Given the description of an element on the screen output the (x, y) to click on. 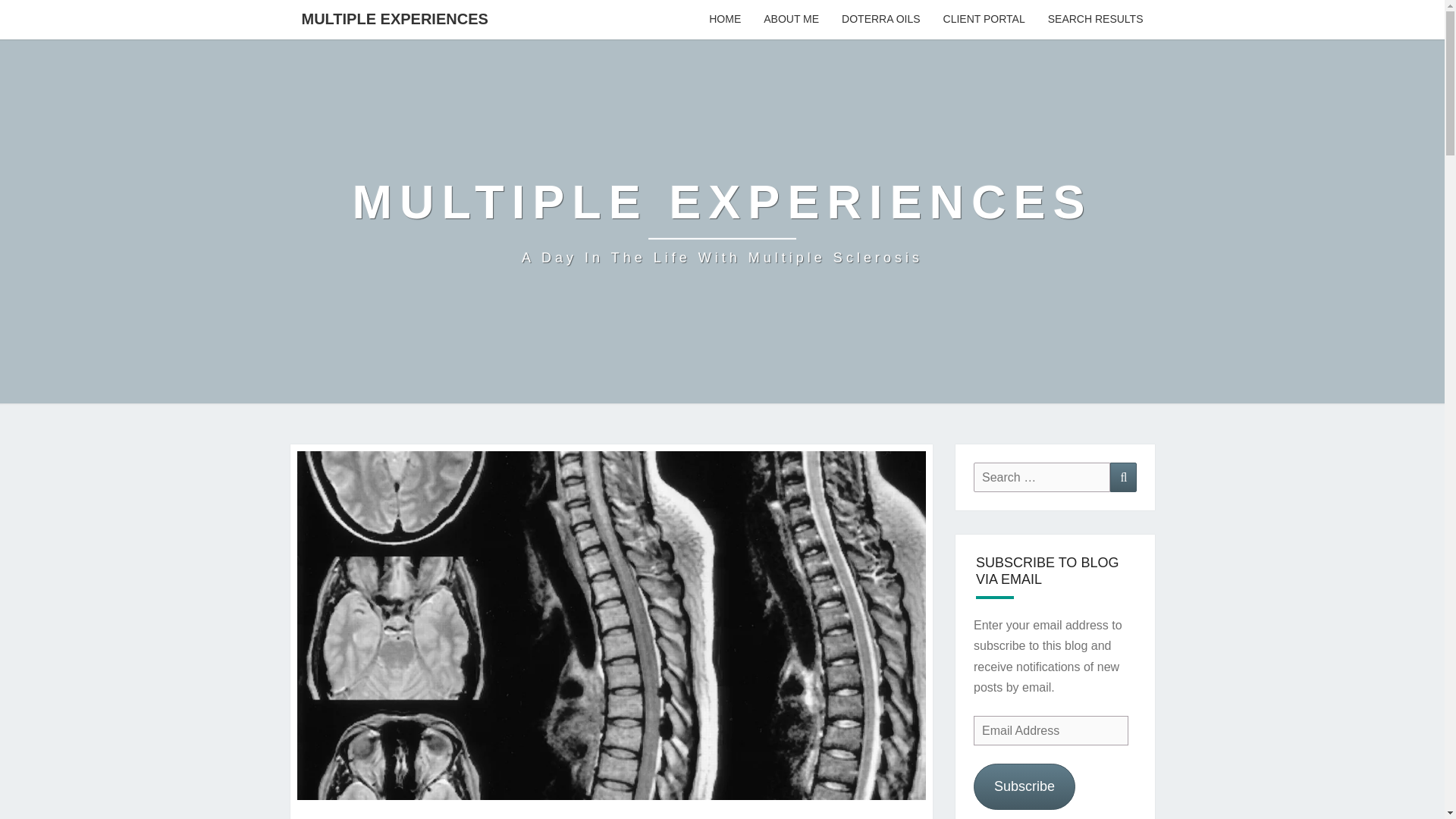
Multiple experienceS (722, 221)
CLIENT PORTAL (983, 19)
ABOUT ME (790, 19)
MULTIPLE EXPERIENCES (394, 18)
HOME (724, 19)
DOTERRA OILS (880, 19)
Search for: (1041, 477)
SEARCH RESULTS (1095, 19)
